Given the description of an element on the screen output the (x, y) to click on. 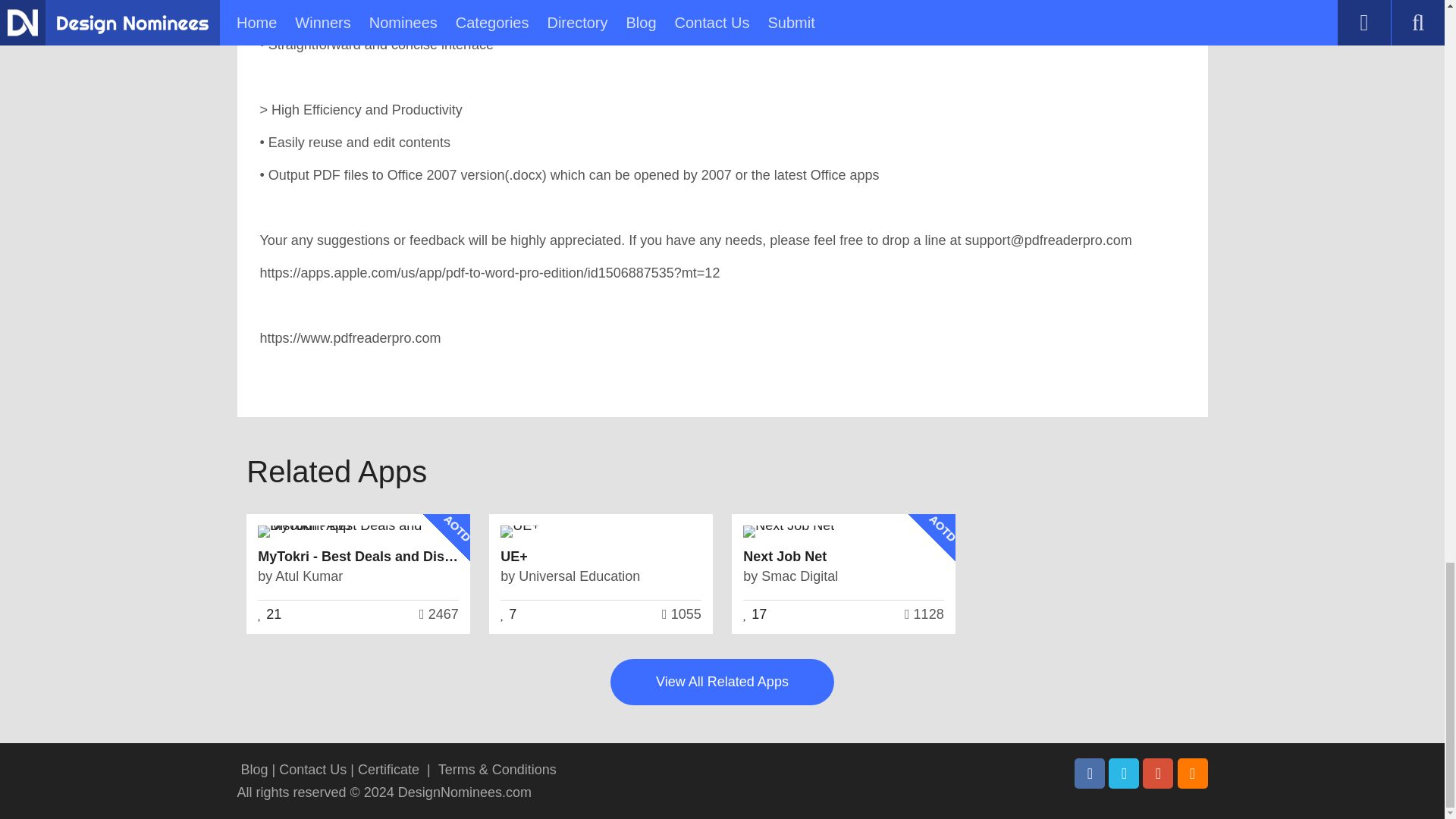
Rss (1191, 773)
Twitter (1123, 773)
Pinterest (1157, 773)
Facebook (1089, 773)
